Given the description of an element on the screen output the (x, y) to click on. 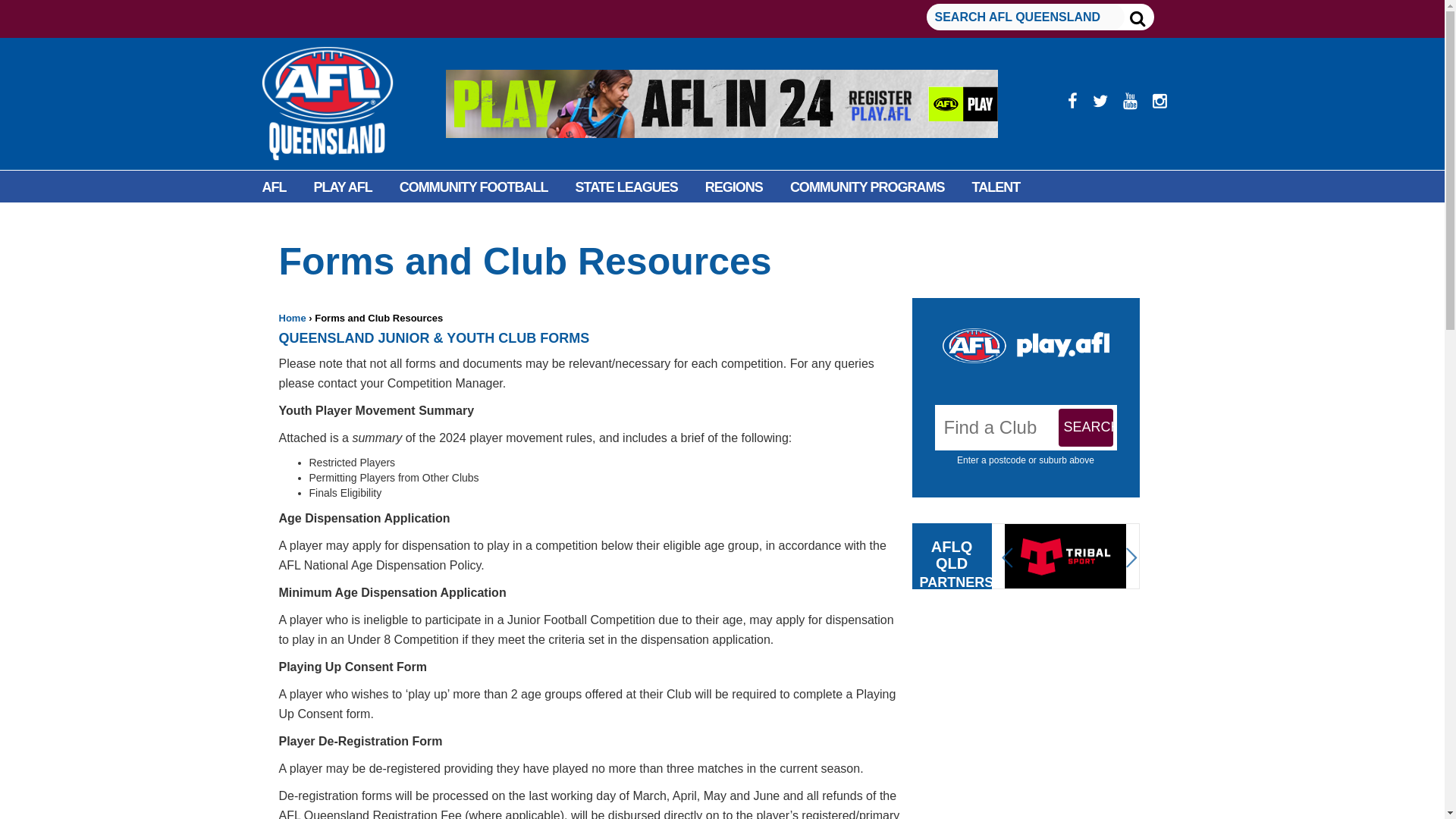
TALENT (995, 187)
REGIONS (733, 187)
Search (1085, 427)
STATE LEAGUES (626, 187)
FACILITIES (295, 221)
AFL (273, 187)
INFORMATION HUB (414, 221)
Search (1085, 427)
PLAY AFL (342, 187)
COMMUNITY FOOTBALL (473, 187)
COMMUNITY PROGRAMS (867, 187)
